Given the description of an element on the screen output the (x, y) to click on. 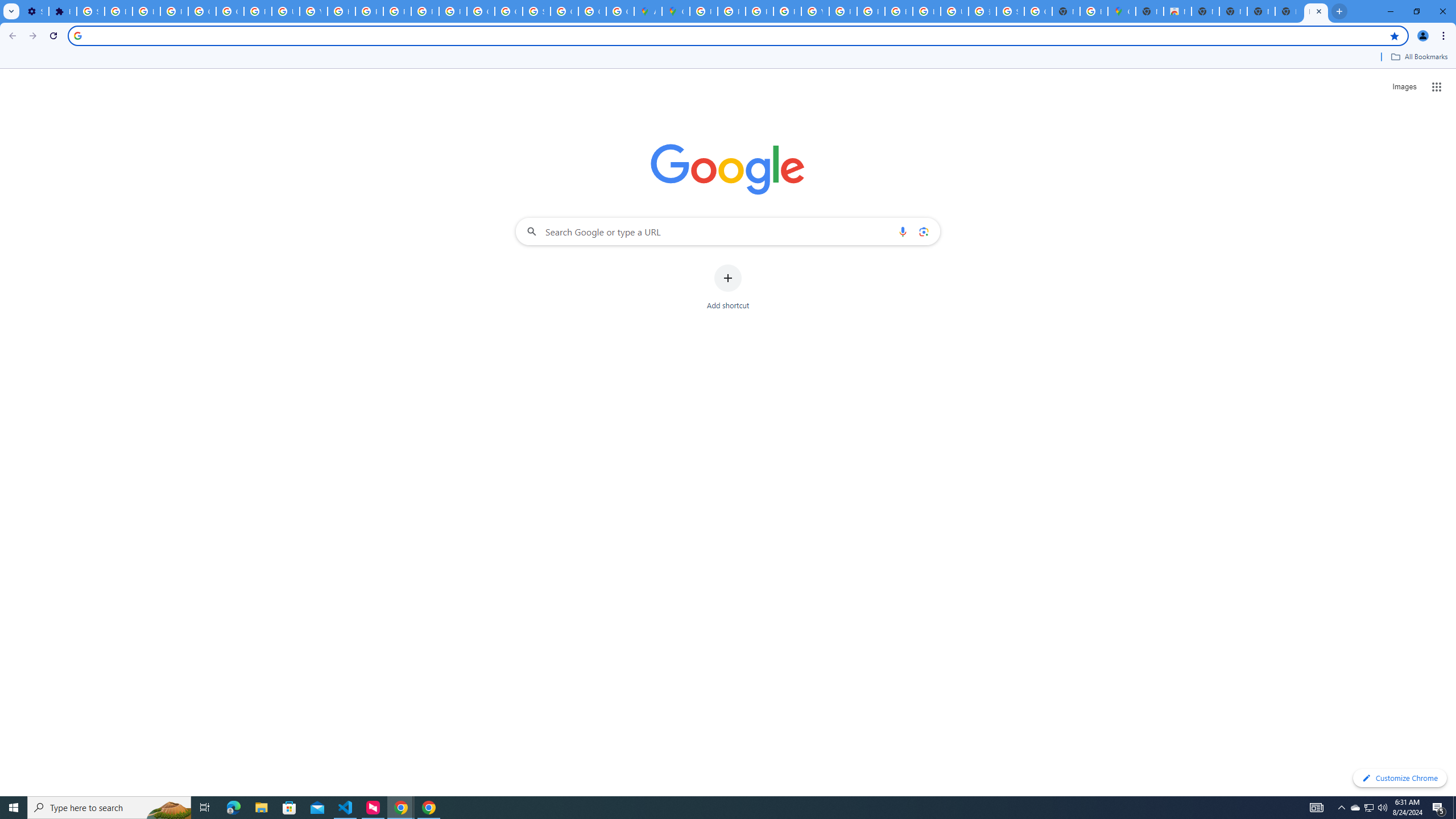
New Tab (1316, 11)
YouTube (313, 11)
Privacy Help Center - Policies Help (731, 11)
Search by voice (902, 230)
